Given the description of an element on the screen output the (x, y) to click on. 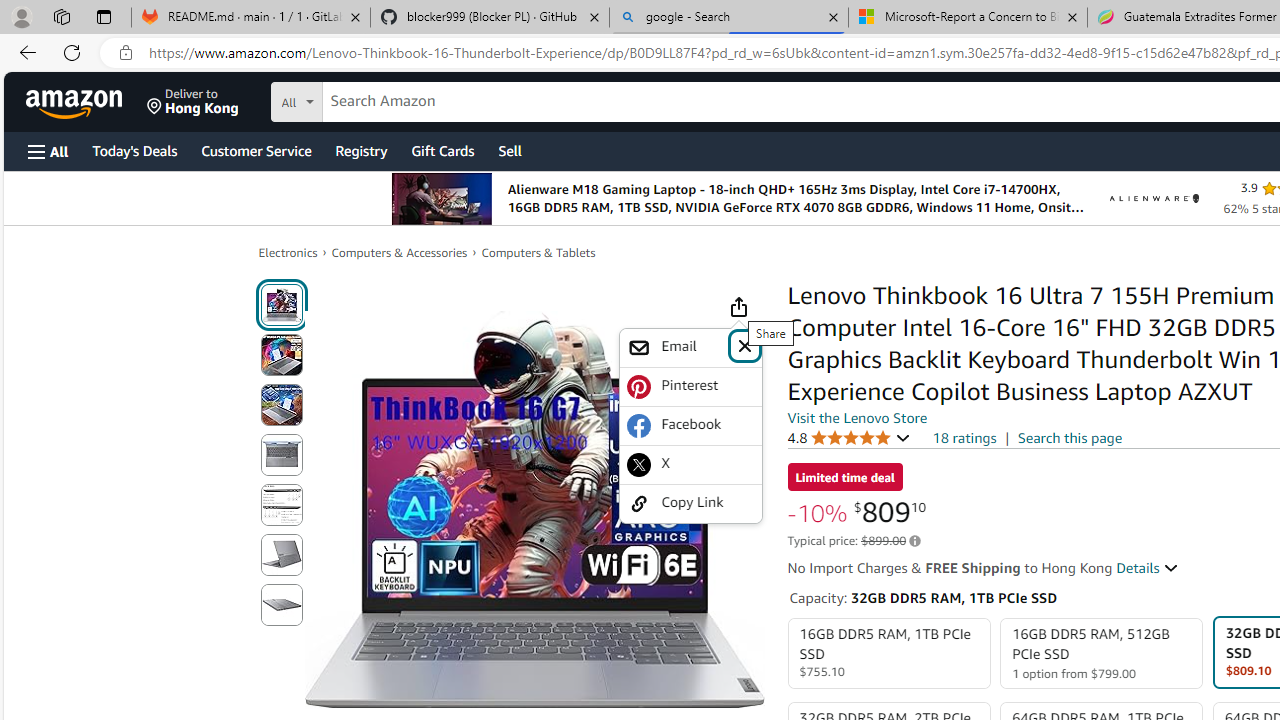
Pinterest (690, 385)
Deliver to Hong Kong (193, 101)
Computers & Accessories (399, 251)
Search in (371, 99)
Close Share Popup (744, 344)
